Given the description of an element on the screen output the (x, y) to click on. 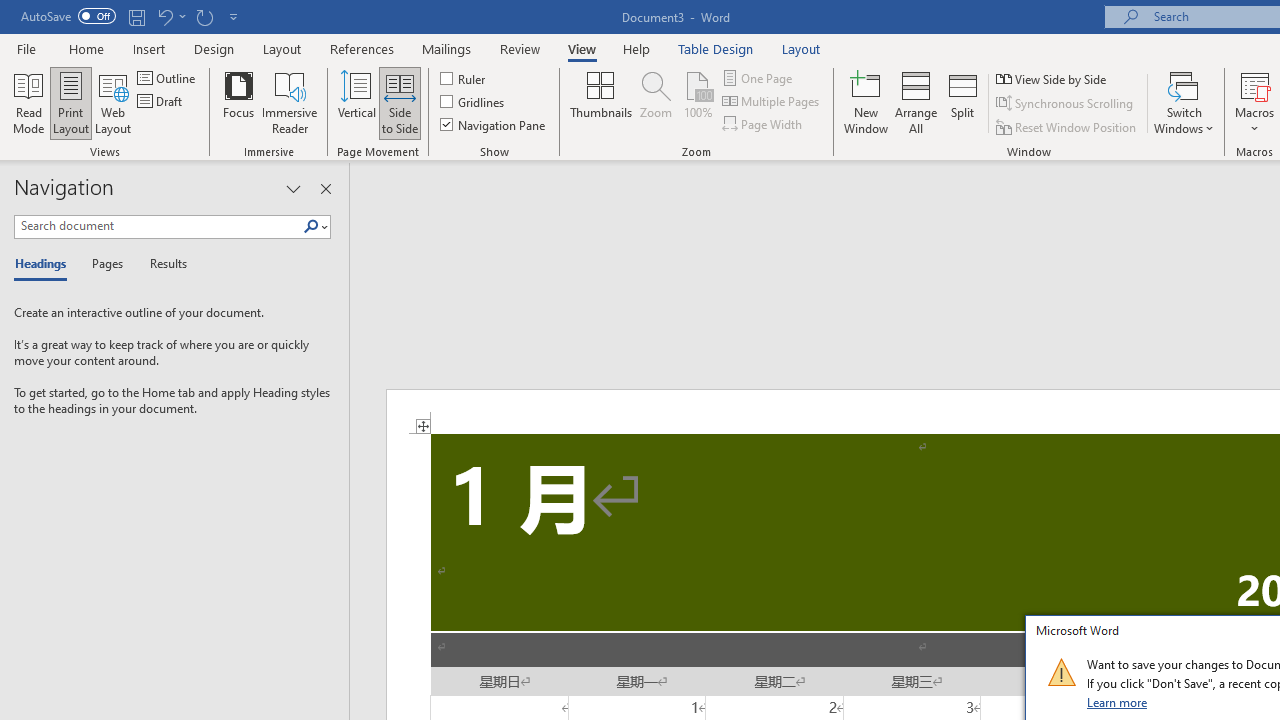
View Macros (1254, 84)
Page Width (763, 124)
Gridlines (473, 101)
New Window (866, 102)
Focus (238, 102)
